Given the description of an element on the screen output the (x, y) to click on. 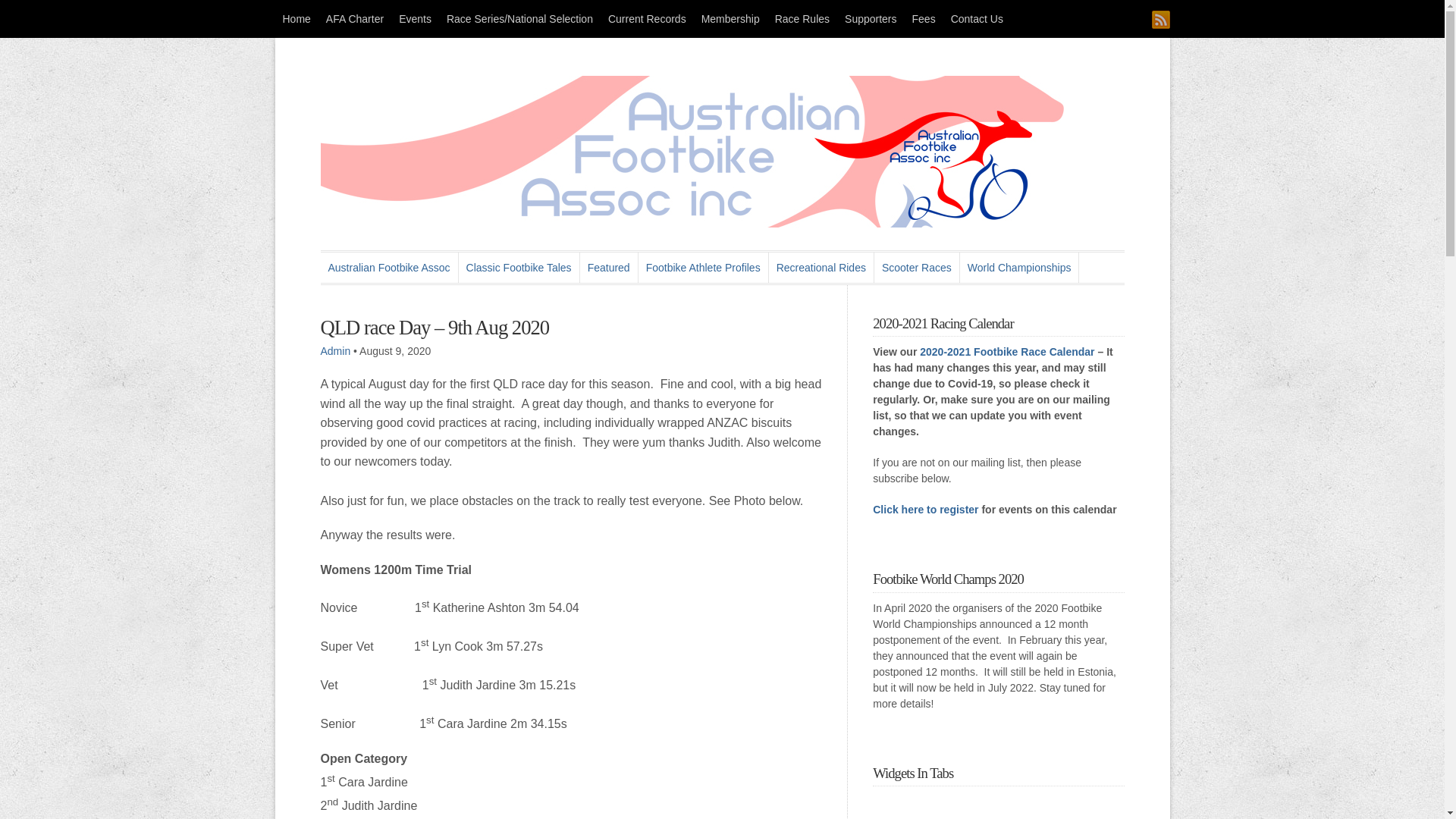
Fees Element type: text (923, 18)
AFA Charter Element type: text (354, 18)
Supporters Element type: text (870, 18)
Events Element type: text (415, 18)
Australian Footbike Assoc Element type: text (389, 267)
Home Element type: text (295, 18)
Admin Element type: text (335, 351)
2020-2021 Footbike Race Calendar Element type: text (1006, 351)
Featured Element type: text (609, 267)
Recreational Rides Element type: text (821, 267)
Race Rules Element type: text (802, 18)
Footbike Athlete Profiles Element type: text (703, 267)
World Championships Element type: text (1019, 267)
Membership Element type: text (730, 18)
Click here to register Element type: text (925, 509)
Subscribe via RSS Feed Element type: hover (1160, 19)
Scooter Races Element type: text (917, 267)
Australian Footbike Association Element type: hover (691, 222)
Current Records Element type: text (646, 18)
Race Series/National Selection Element type: text (519, 18)
Contact Us Element type: text (976, 18)
Classic Footbike Tales Element type: text (519, 267)
